Given the description of an element on the screen output the (x, y) to click on. 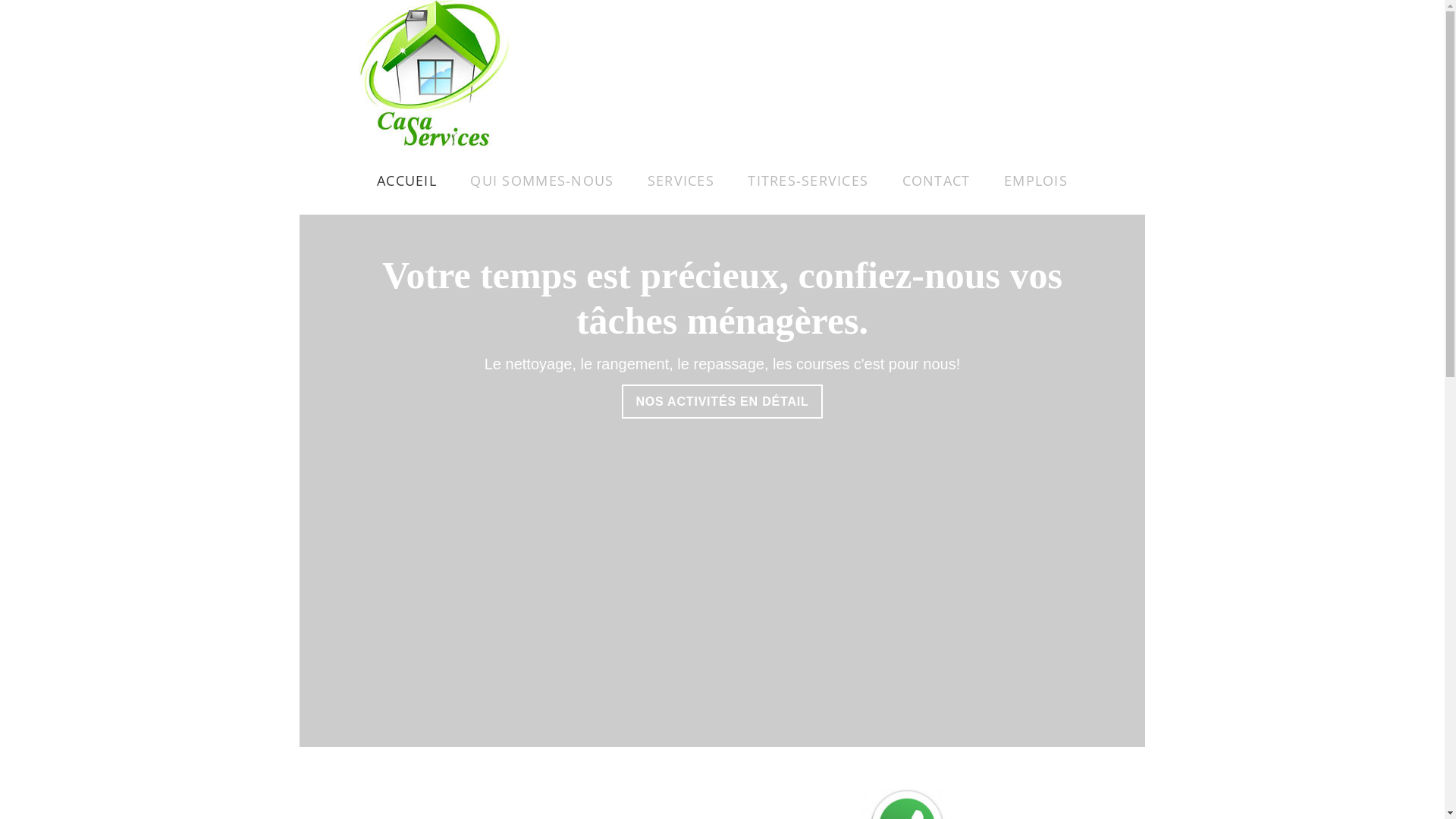
ACCUEIL Element type: text (406, 180)
CONTACT Element type: text (936, 180)
TITRES-SERVICES Element type: text (807, 180)
EMPLOIS Element type: text (1035, 180)
QUI SOMMES-NOUS Element type: text (541, 180)
SERVICES Element type: text (680, 180)
